Given the description of an element on the screen output the (x, y) to click on. 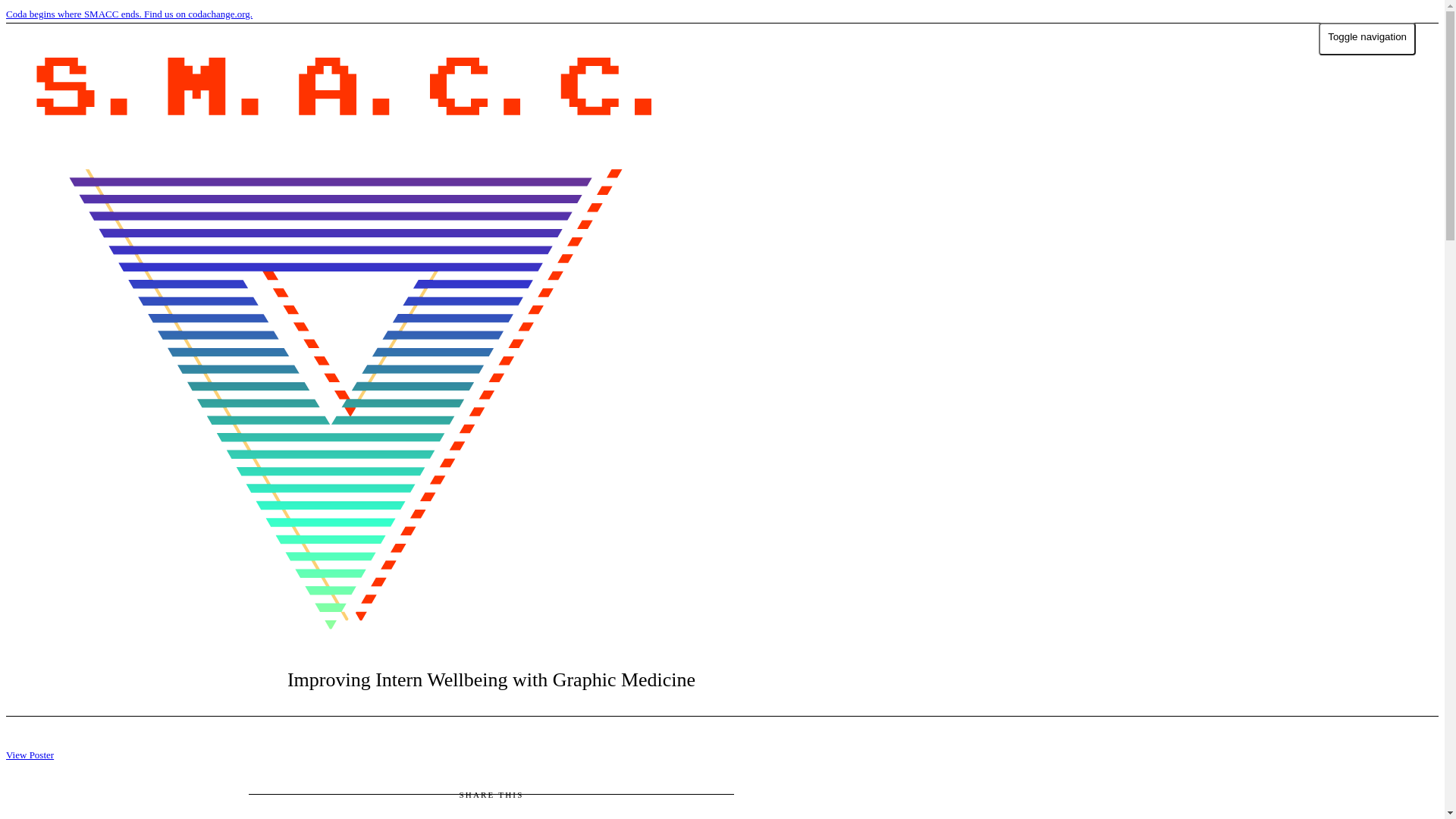
View Poster Element type: text (29, 754)
Coda begins where SMACC ends. Find us on codachange.org. Element type: text (722, 14)
SMACC Sydney Element type: hover (342, 337)
Toggle navigation Element type: text (1366, 38)
